Given the description of an element on the screen output the (x, y) to click on. 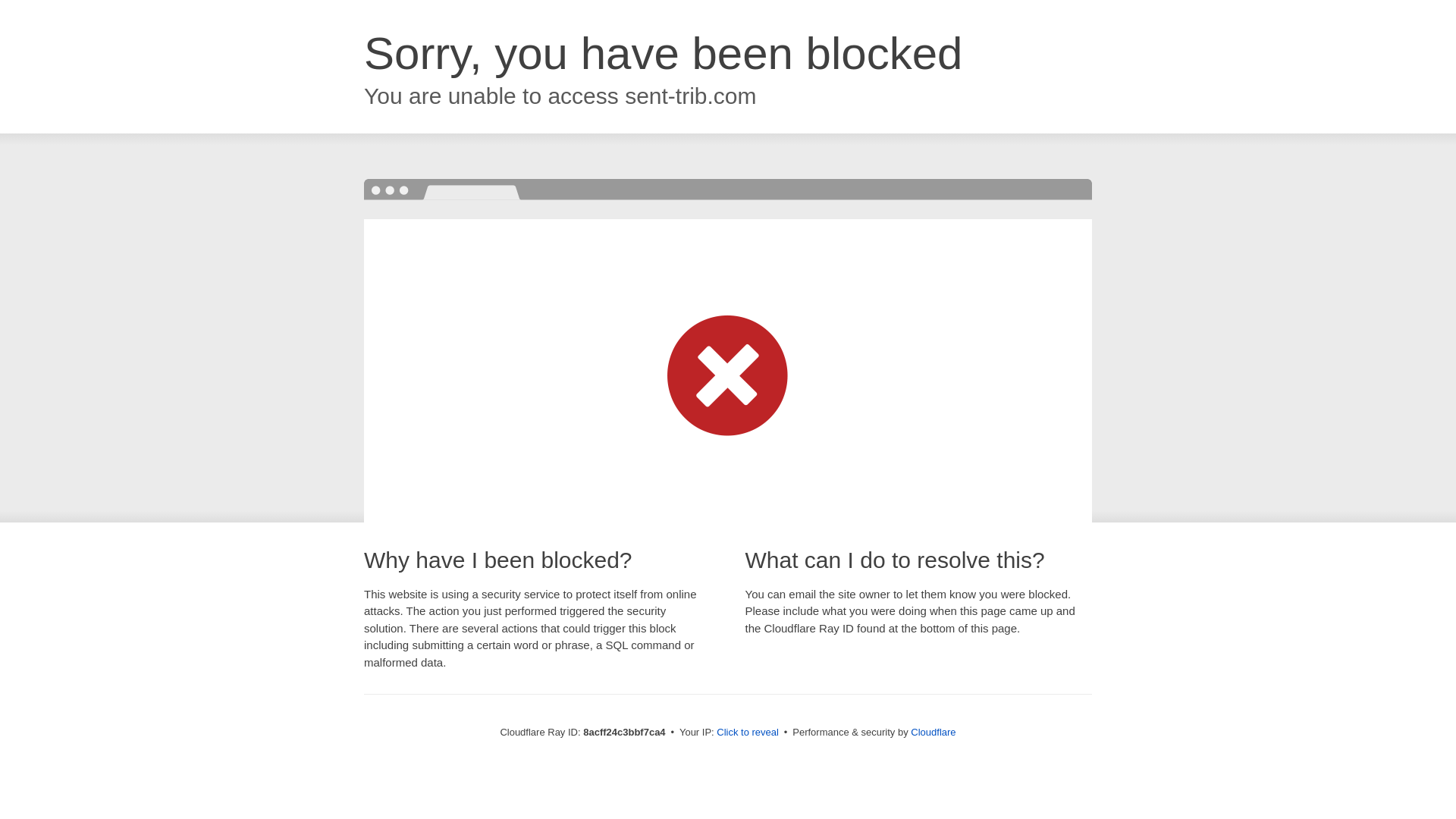
Click to reveal (747, 732)
Cloudflare (933, 731)
